Given the description of an element on the screen output the (x, y) to click on. 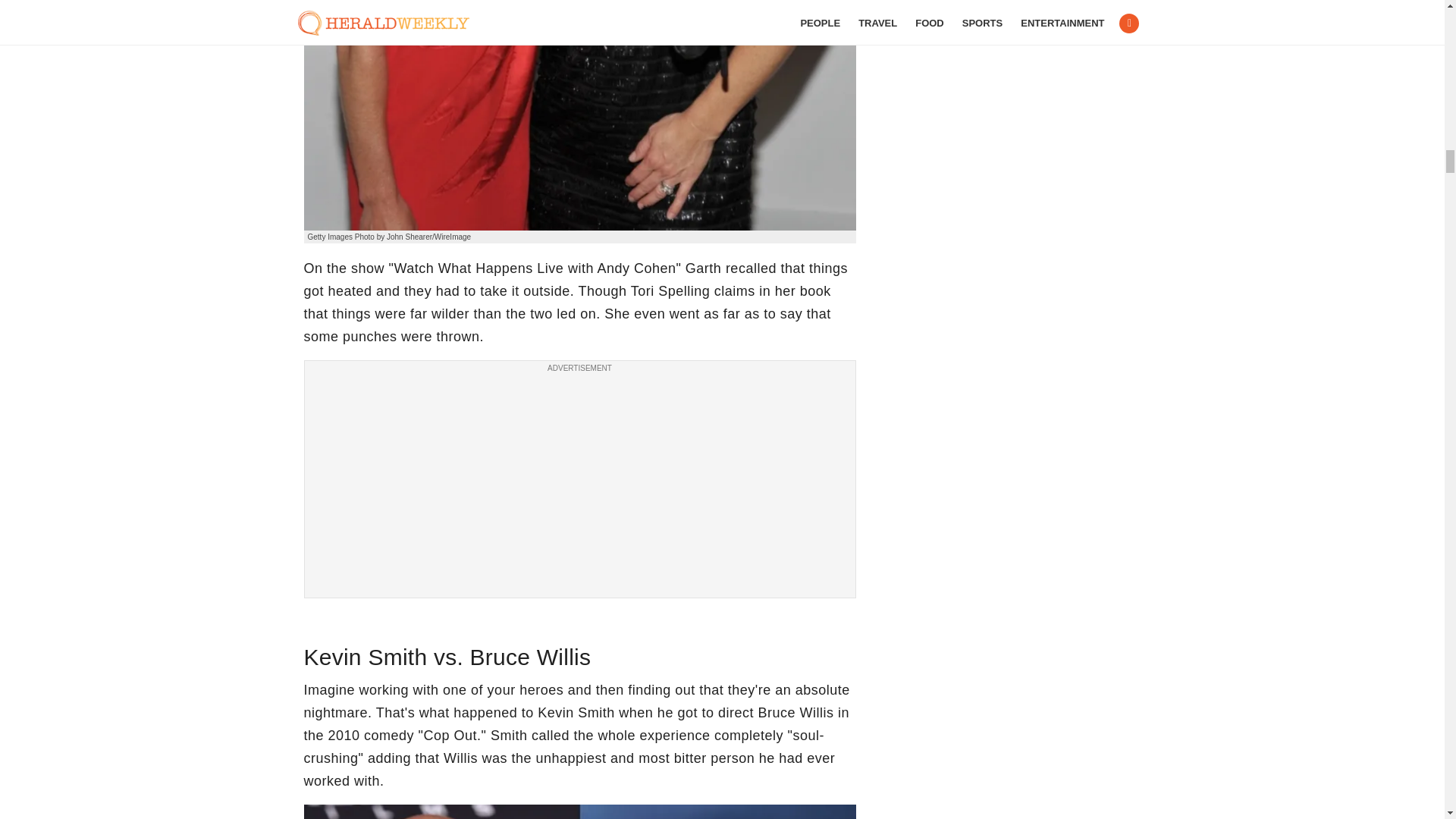
Jennie Garth vs. Shannen Doherty (579, 115)
Kevin Smith vs. Bruce Willis (579, 811)
